Given the description of an element on the screen output the (x, y) to click on. 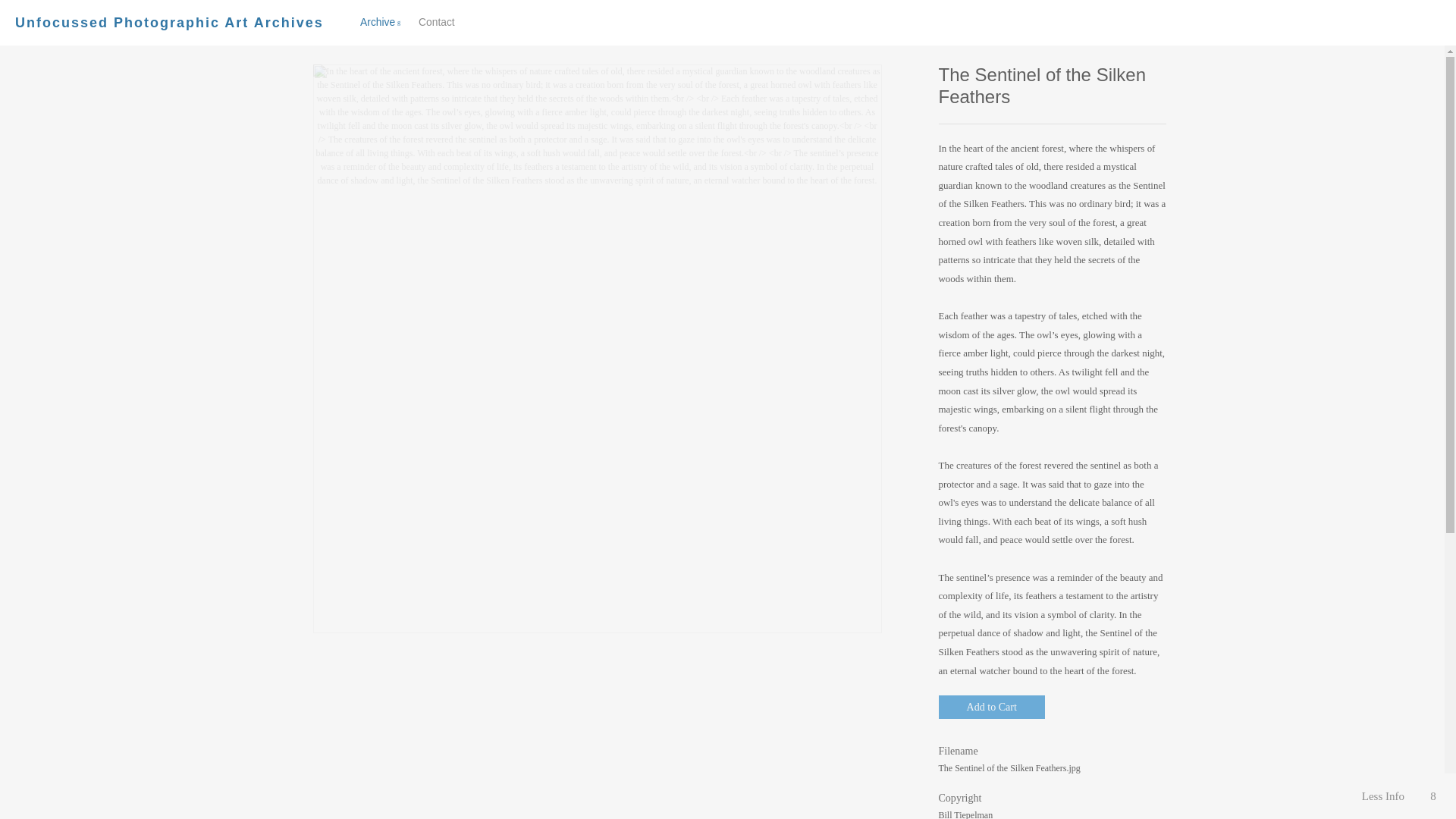
Contact (436, 21)
Add to Cart (992, 707)
Unfocussed Photographic Art Archives (168, 22)
Add to Cart (992, 707)
Unfocussed Photographic Art Archives (414, 23)
